Given the description of an element on the screen output the (x, y) to click on. 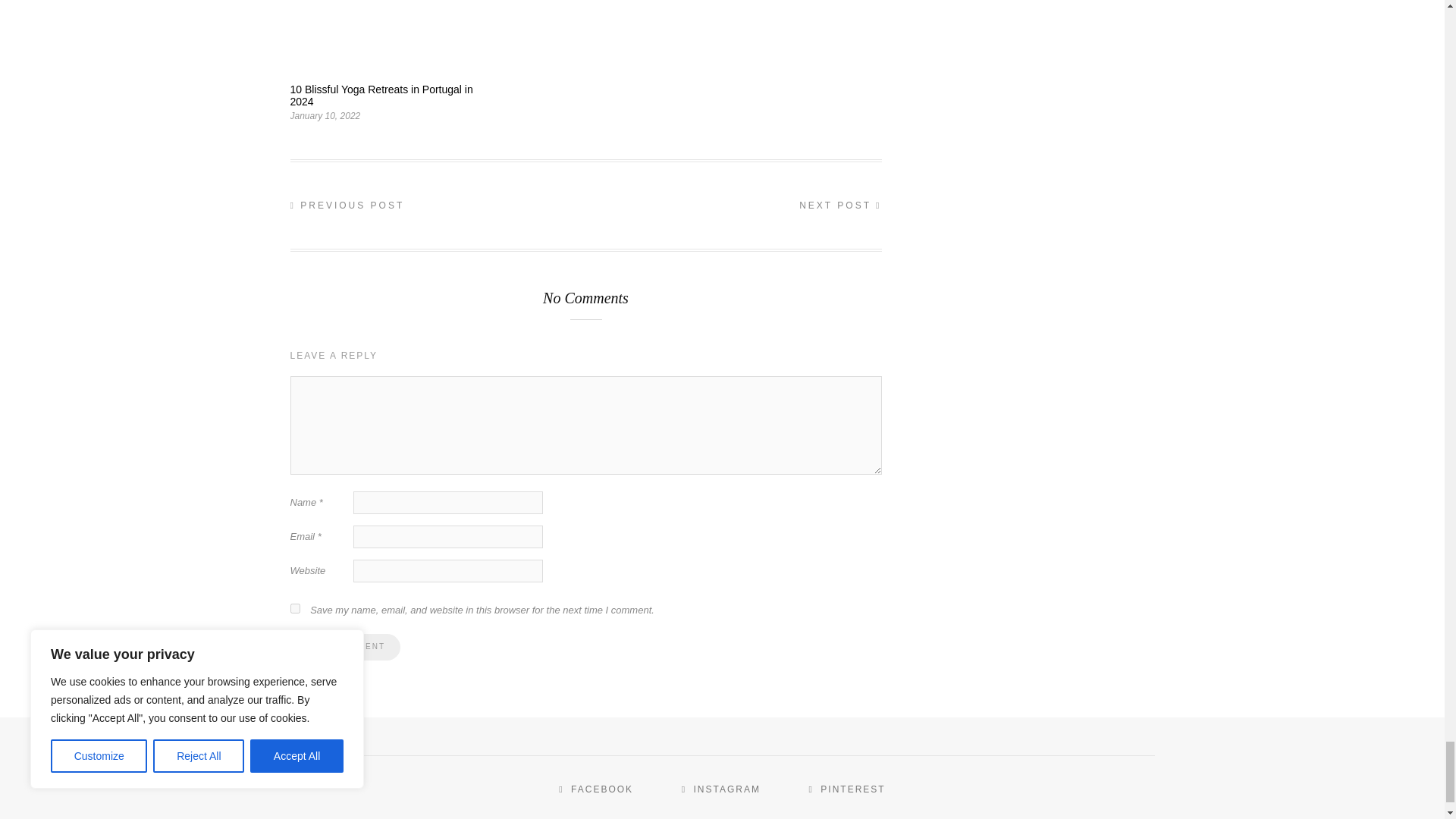
yes (294, 608)
Post Comment (343, 646)
